Given the description of an element on the screen output the (x, y) to click on. 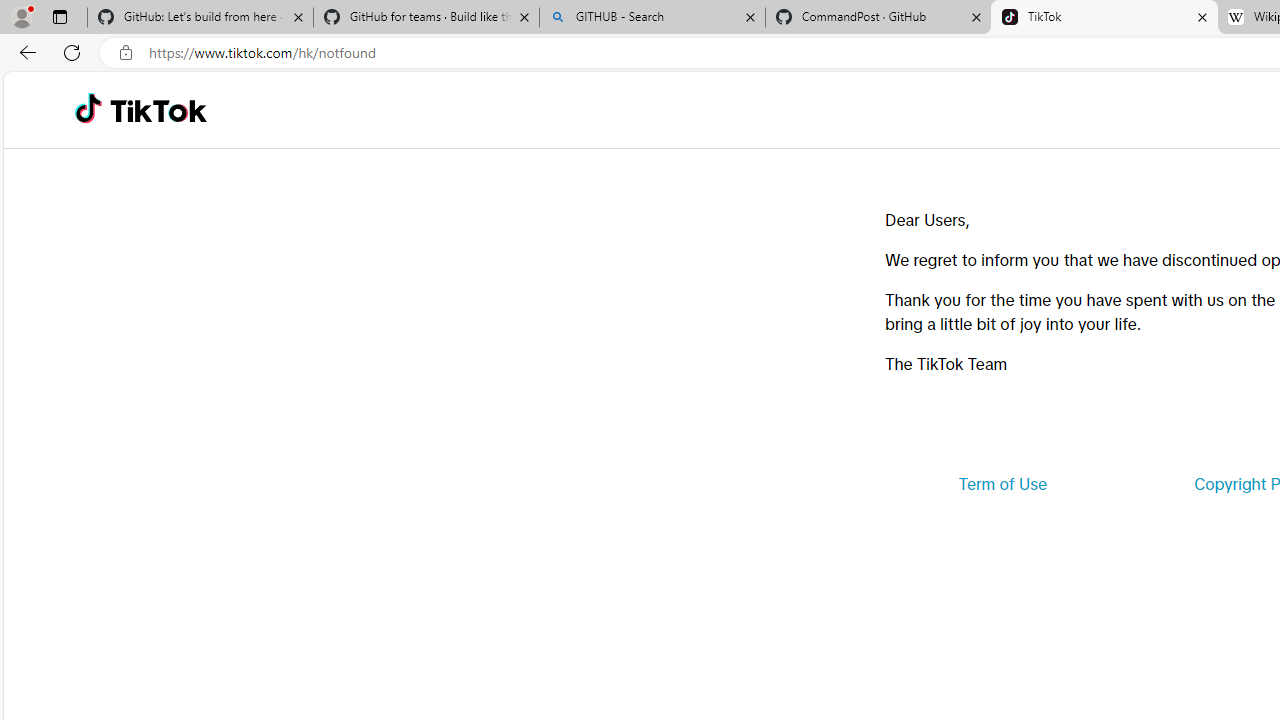
Term of Use (1002, 484)
TikTok (1104, 17)
GITHUB - Search (652, 17)
TikTok (158, 110)
